Given the description of an element on the screen output the (x, y) to click on. 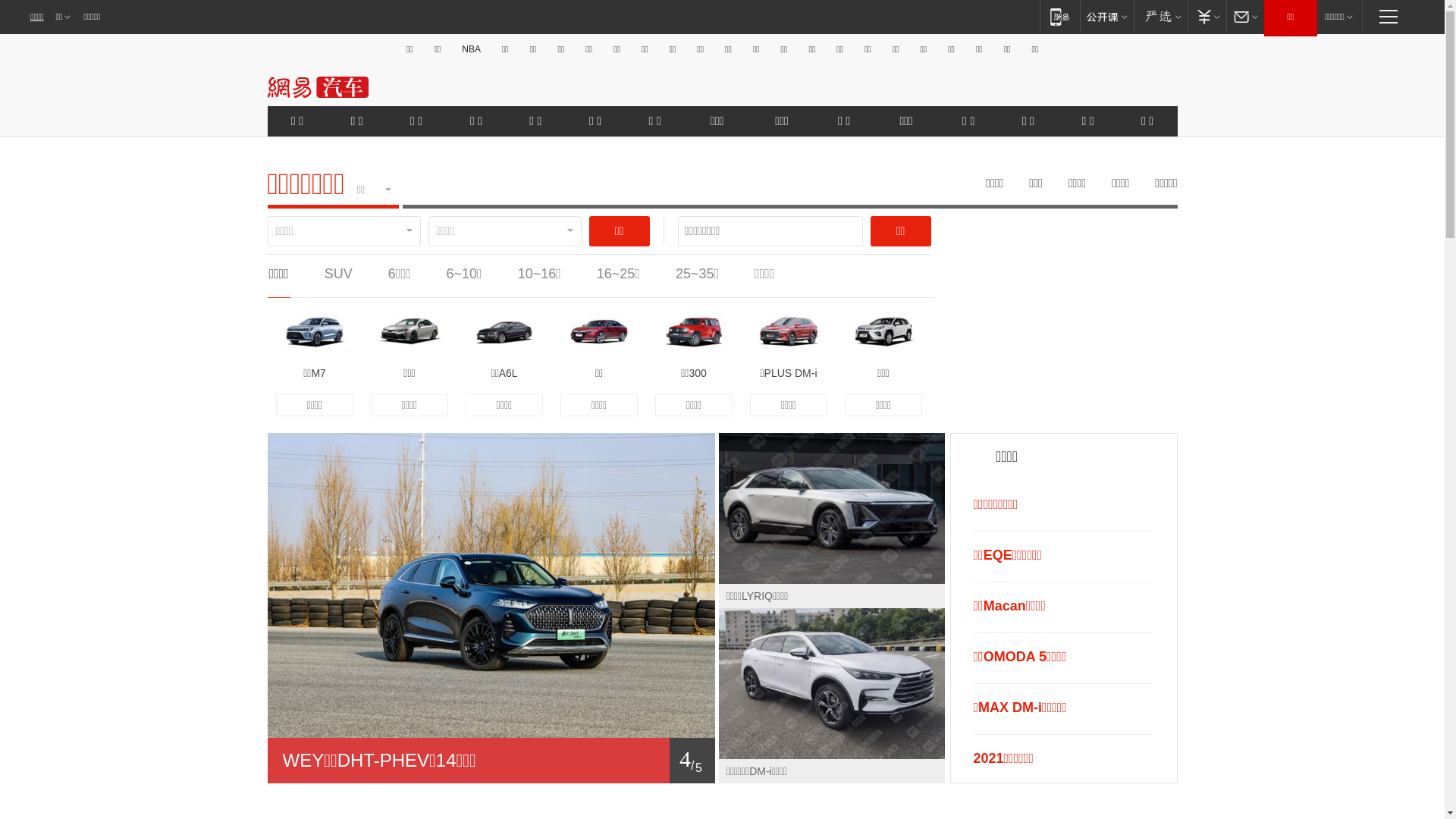
SUV Element type: text (338, 273)
1/ 5 Element type: text (490, 760)
NBA Element type: text (471, 48)
